Given the description of an element on the screen output the (x, y) to click on. 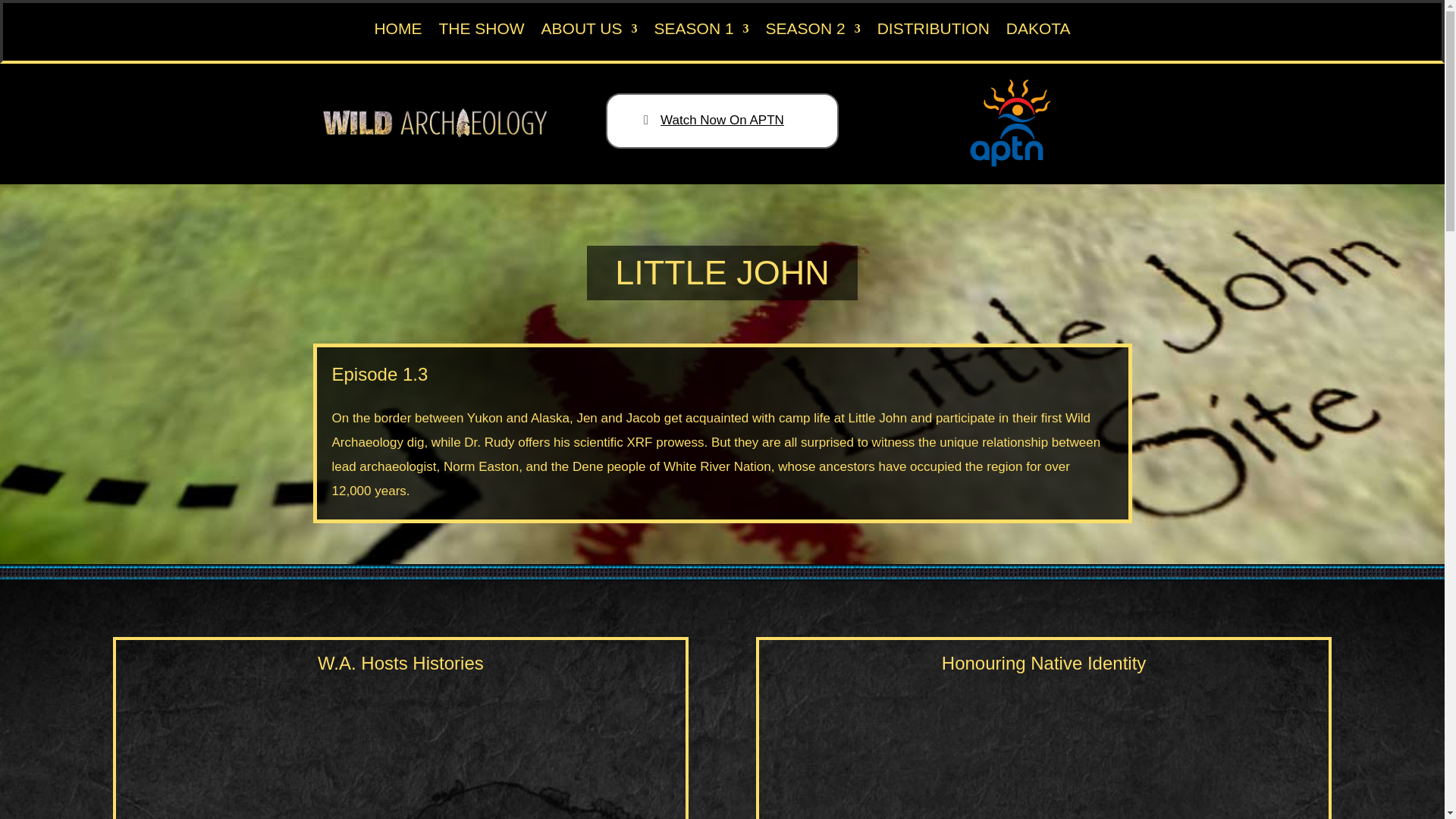
THE SHOW (481, 31)
W.A. Hosts Histories (401, 749)
SEASON 1 (701, 31)
Honouring Native Identity (1043, 749)
DAKOTA (1038, 31)
HOME (398, 31)
DISTRIBUTION (933, 31)
ABOUT US (589, 31)
SEASON 2 (812, 31)
APTN-med (1010, 122)
